Given the description of an element on the screen output the (x, y) to click on. 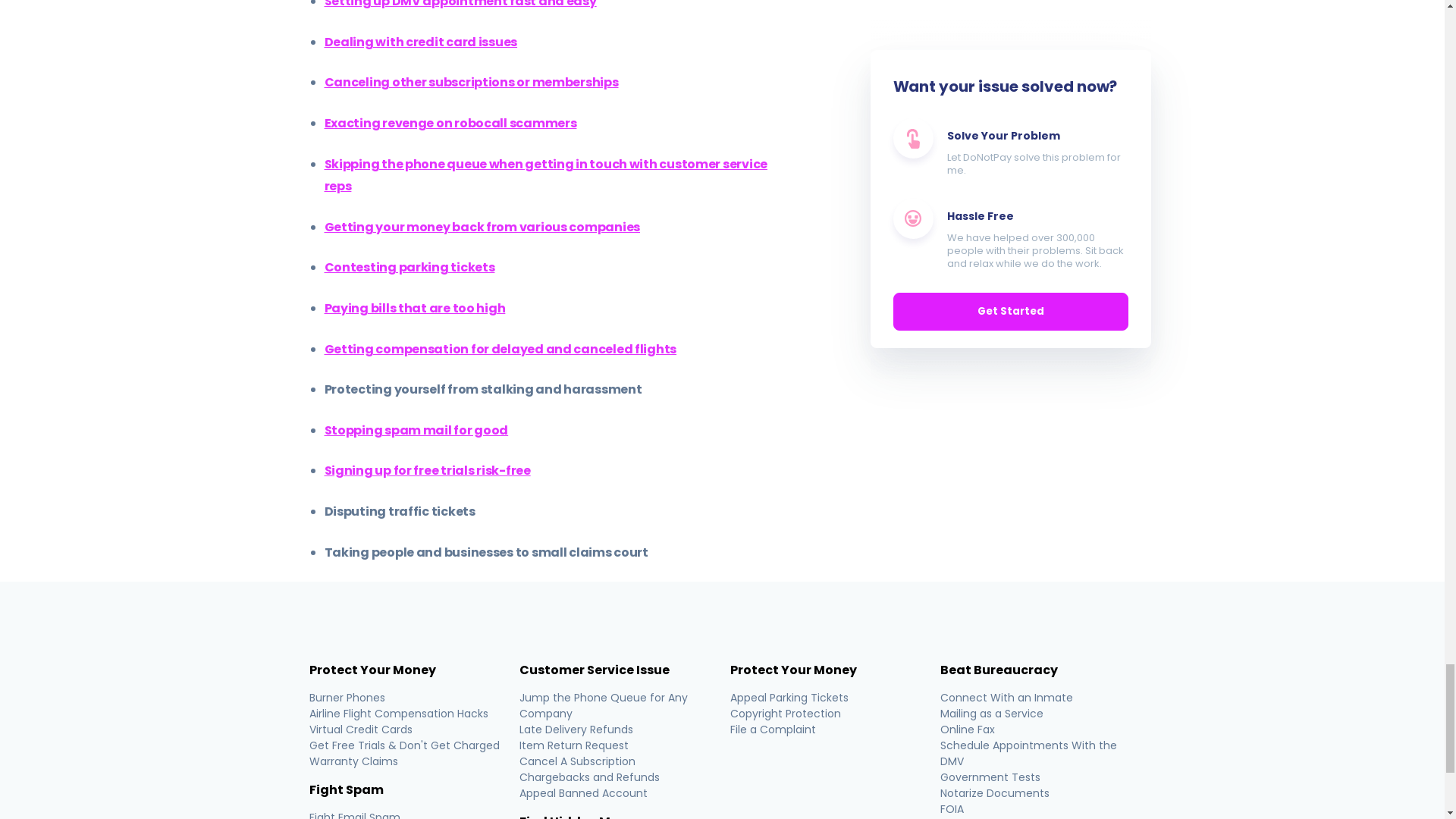
Setting up DMV appointment fast and easy (460, 4)
